Given the description of an element on the screen output the (x, y) to click on. 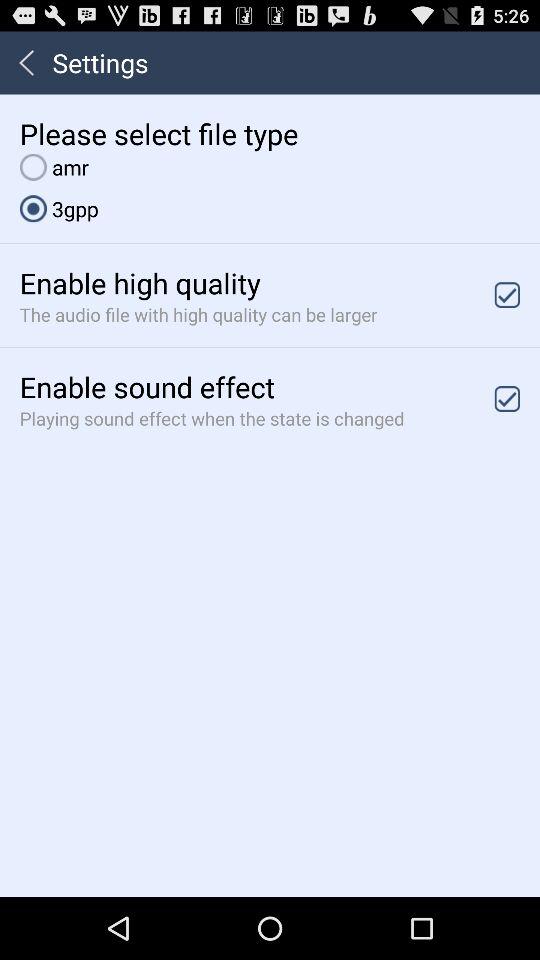
high quality option (507, 294)
